Given the description of an element on the screen output the (x, y) to click on. 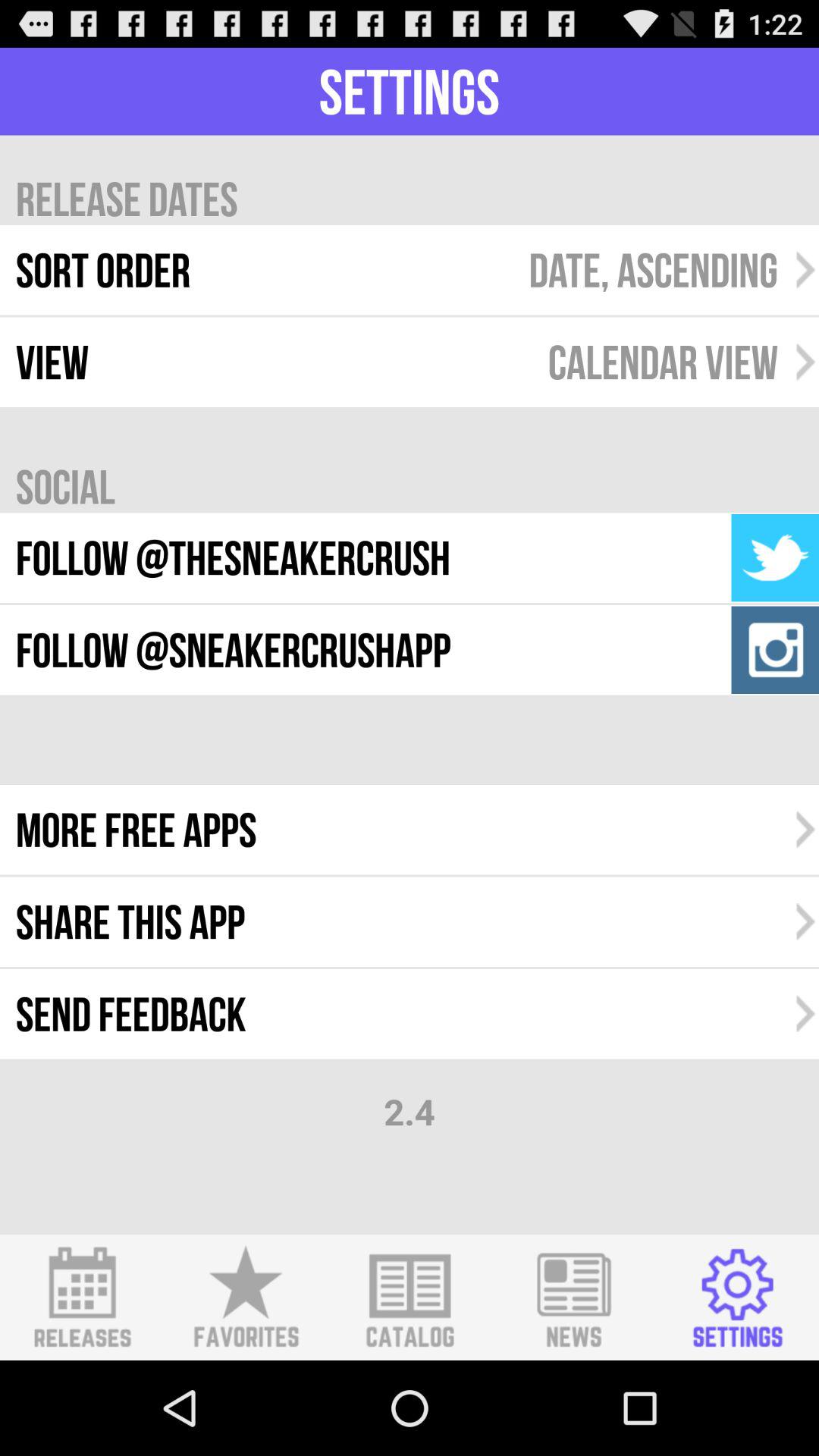
shows favourite icon (245, 1297)
